Given the description of an element on the screen output the (x, y) to click on. 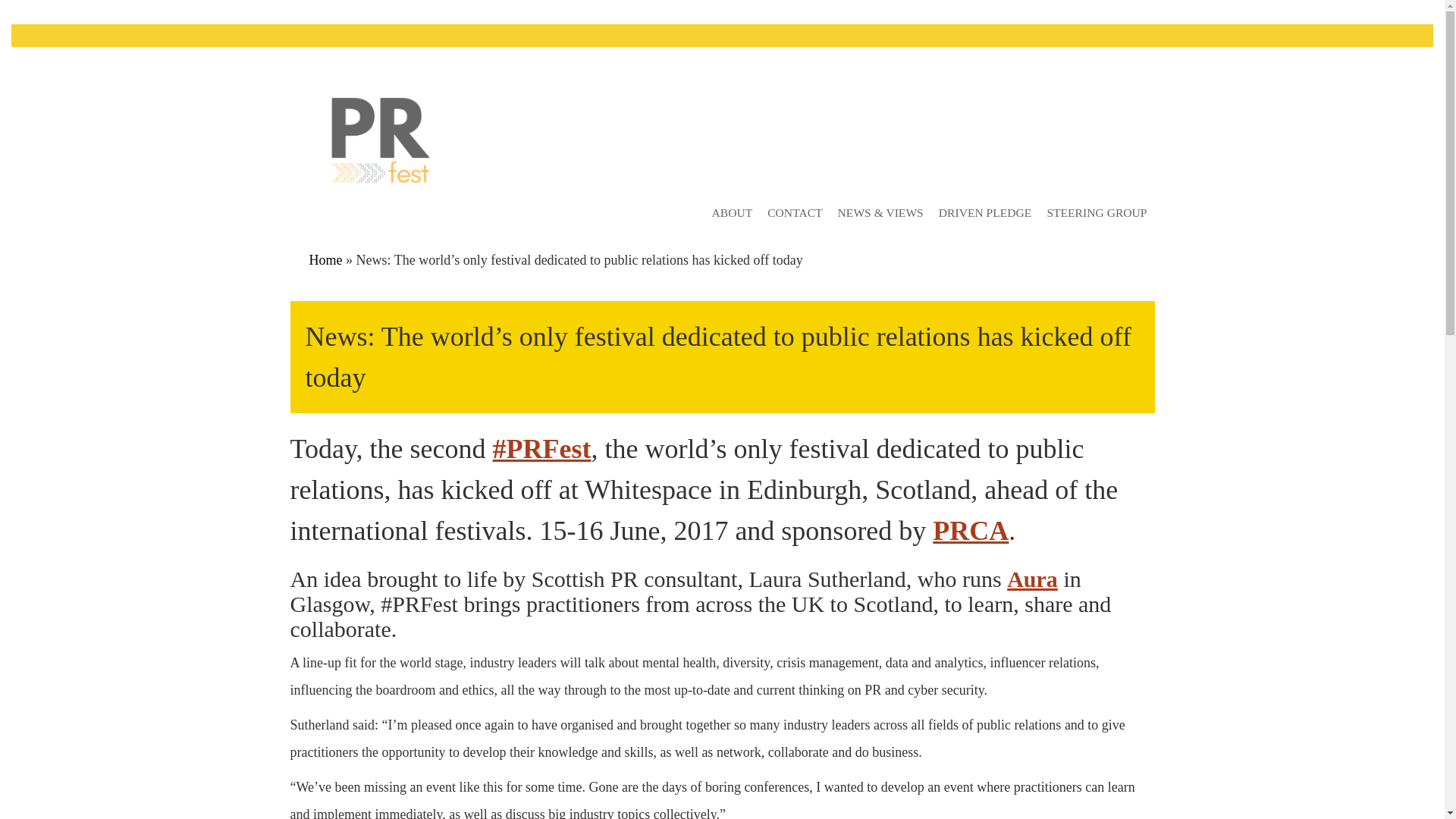
ABOUT (731, 212)
PRCA (971, 530)
STEERING GROUP (1096, 212)
DRIVEN PLEDGE (985, 212)
Aura (1032, 578)
CONTACT (794, 212)
Home (325, 259)
